Given the description of an element on the screen output the (x, y) to click on. 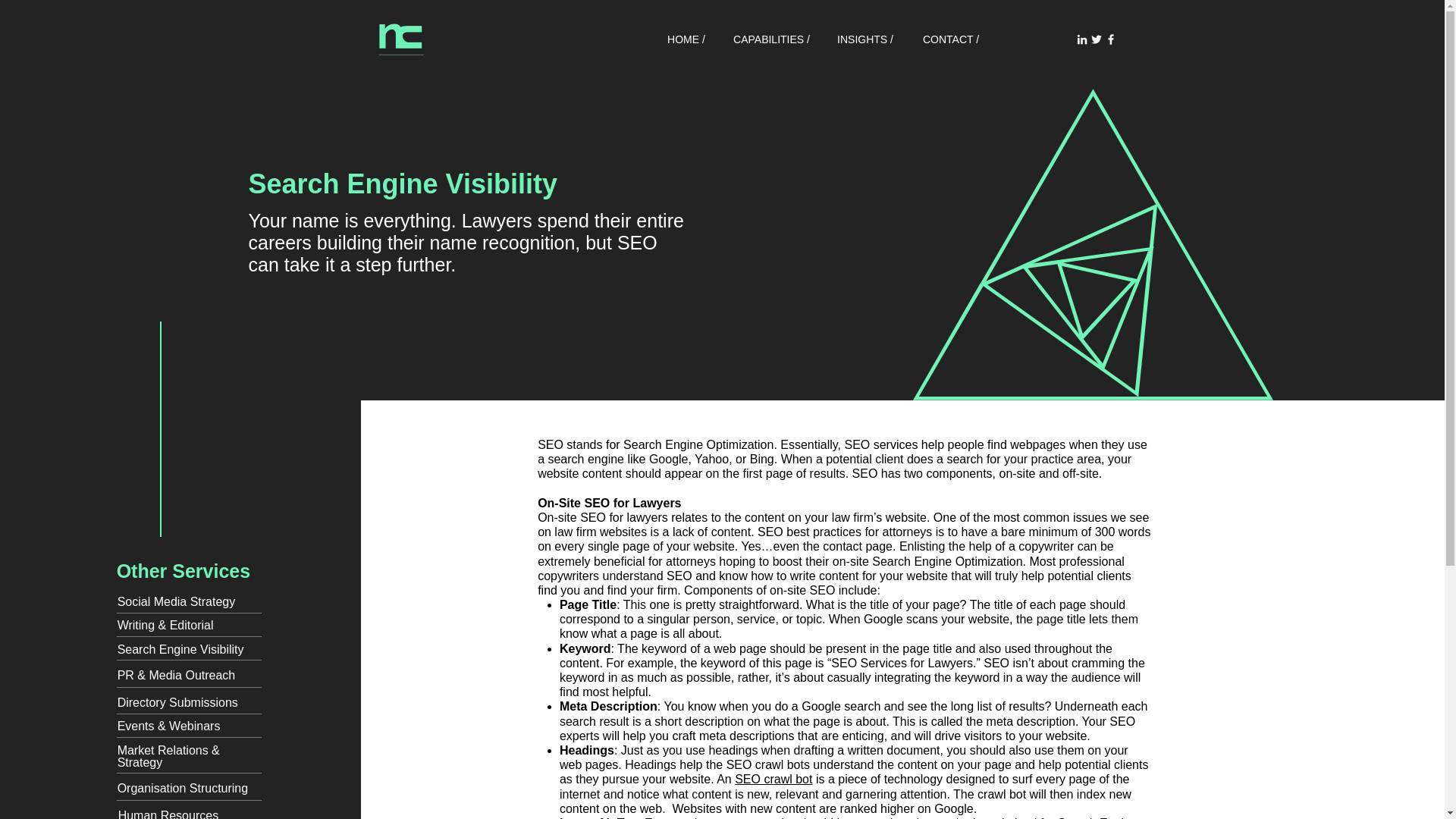
Search Engine Visibility (180, 649)
Human Resources (168, 814)
Social Media Strategy (176, 601)
Directory Submissions (177, 702)
Organisation Structuring (182, 788)
SEO crawl bot (773, 779)
